Given the description of an element on the screen output the (x, y) to click on. 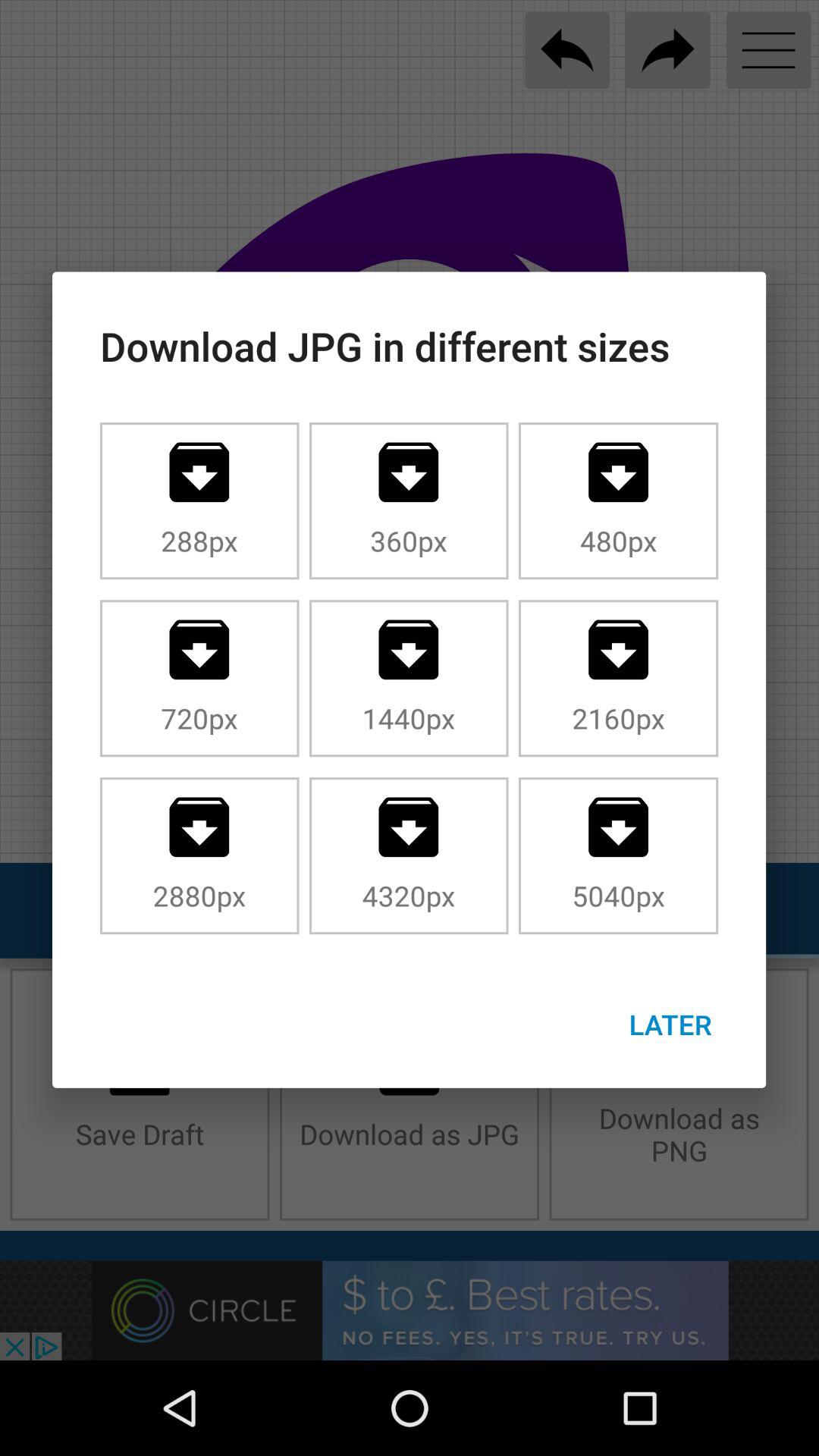
swipe to later icon (670, 1024)
